Given the description of an element on the screen output the (x, y) to click on. 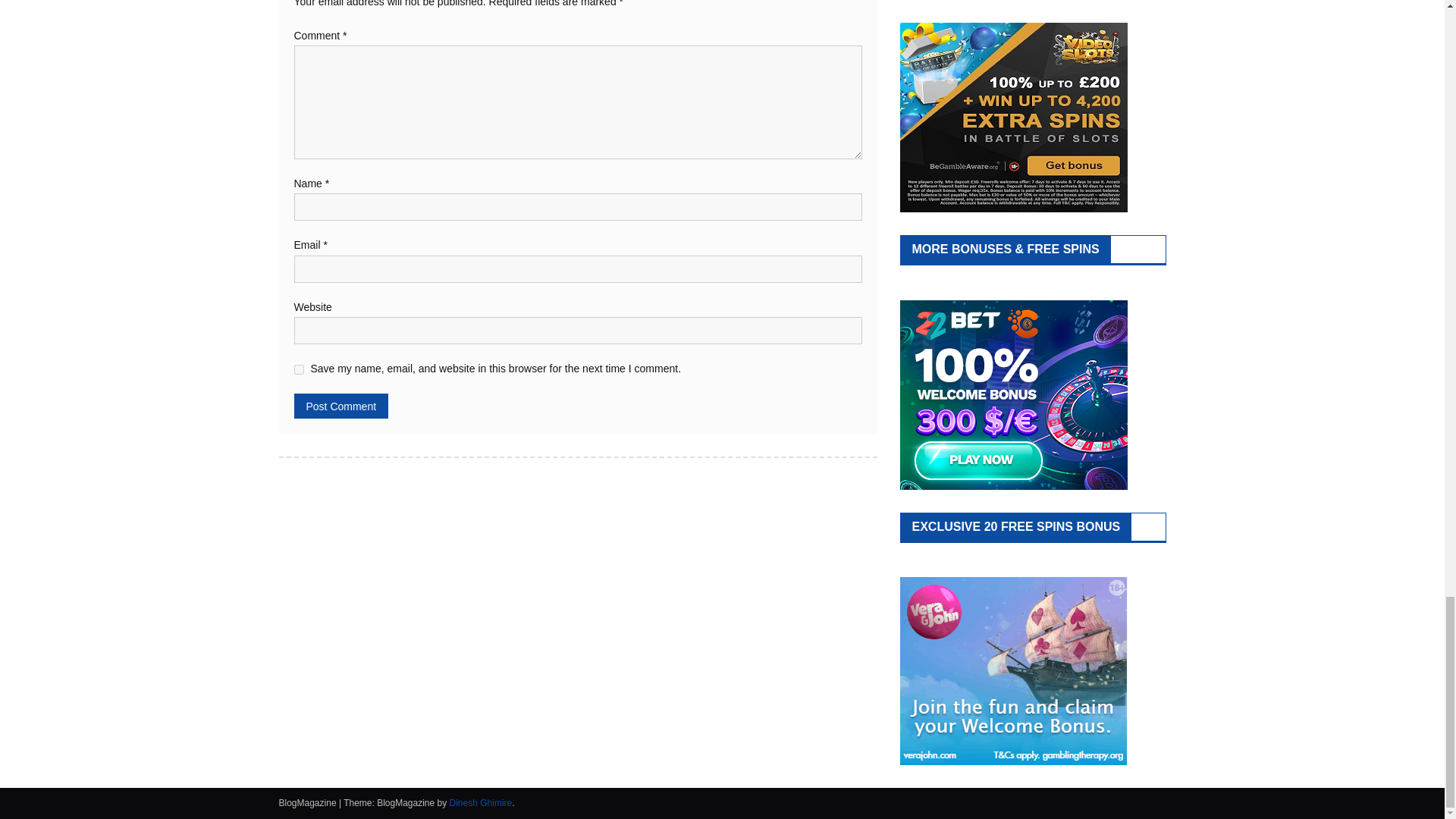
yes (299, 369)
Post Comment (341, 405)
